Given the description of an element on the screen output the (x, y) to click on. 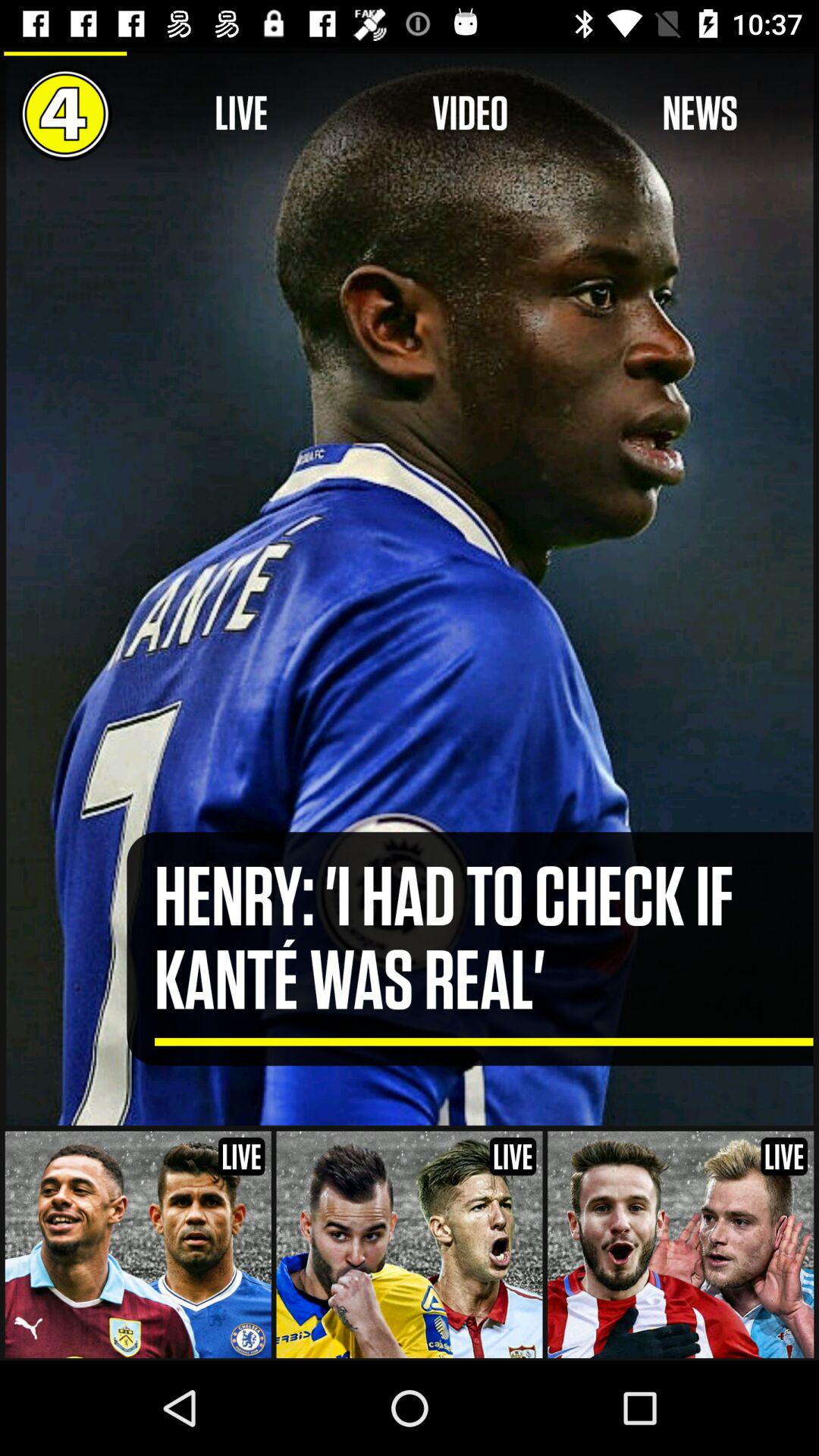
flip to news icon (700, 113)
